Given the description of an element on the screen output the (x, y) to click on. 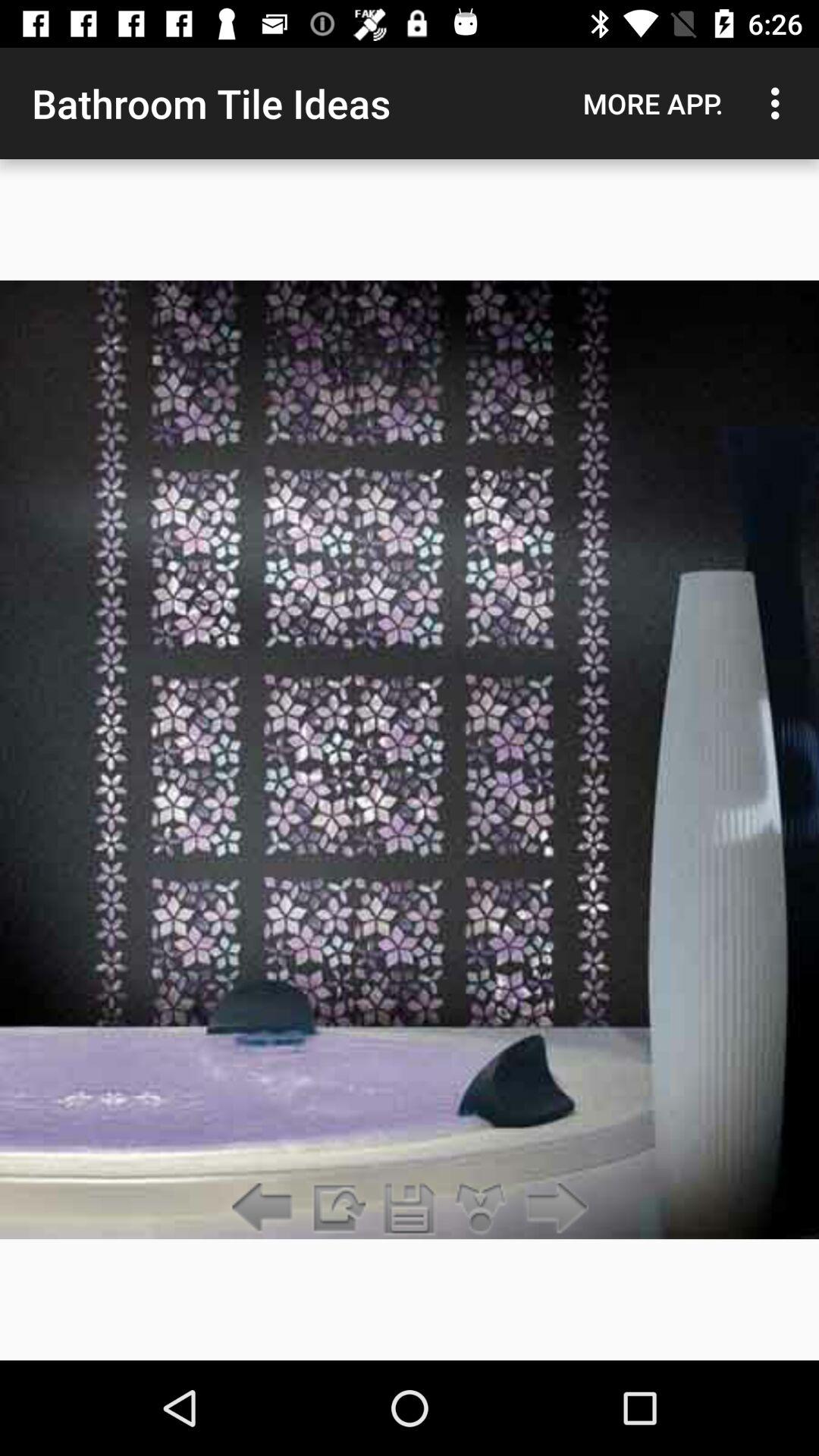
go to next image (552, 1209)
